Given the description of an element on the screen output the (x, y) to click on. 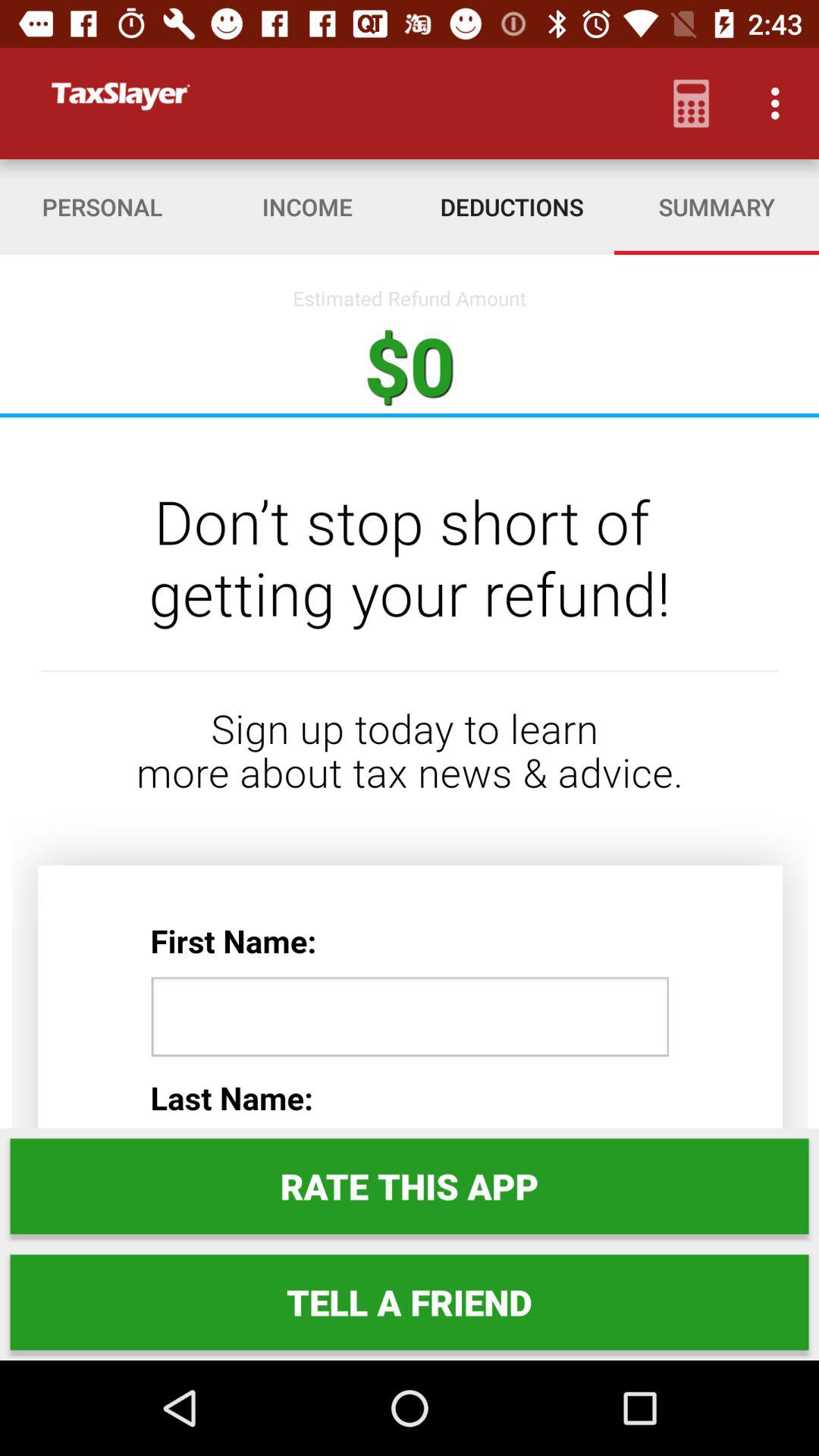
turn on the item above rate this app item (409, 772)
